Given the description of an element on the screen output the (x, y) to click on. 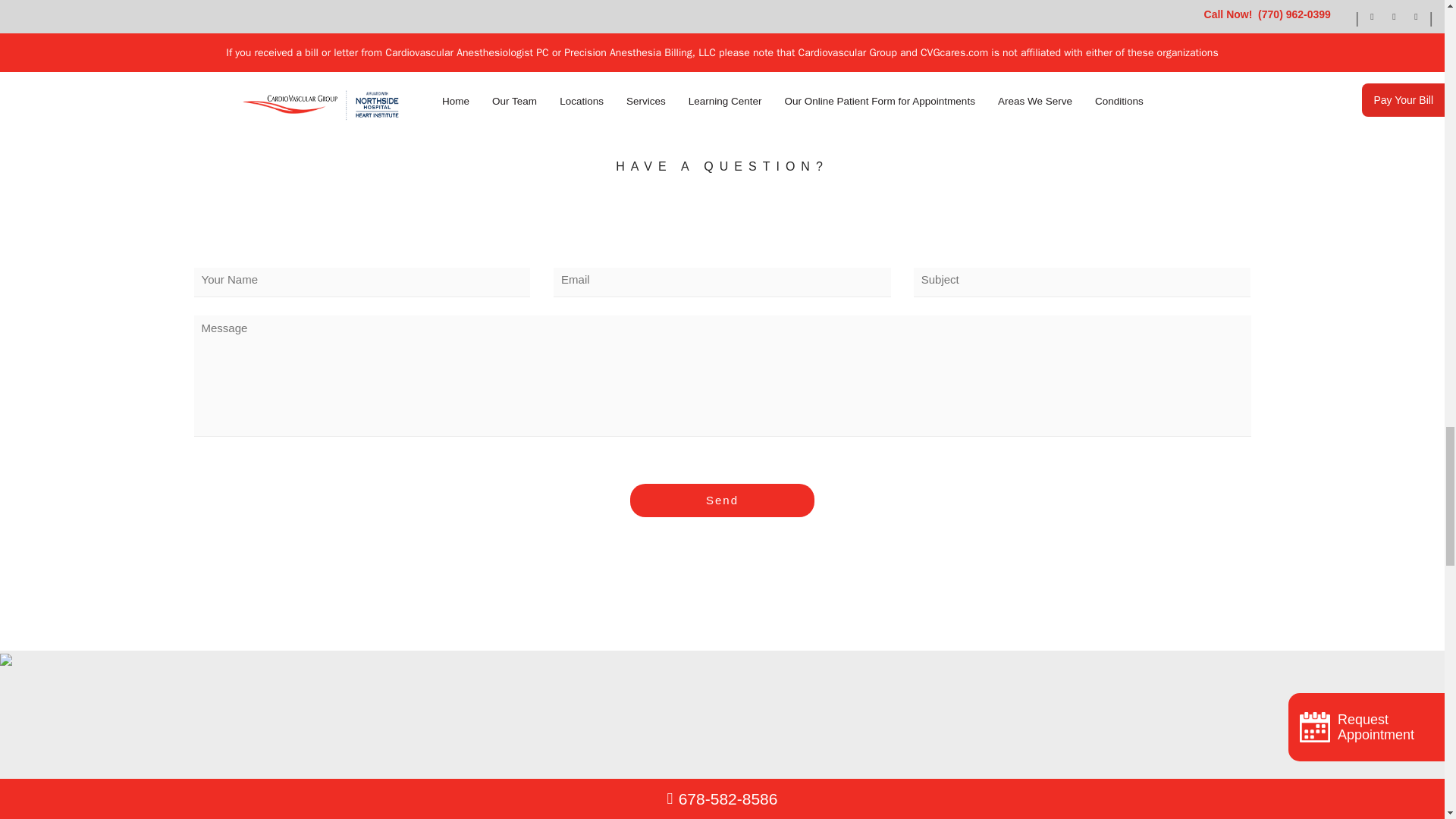
Send (721, 500)
